Given the description of an element on the screen output the (x, y) to click on. 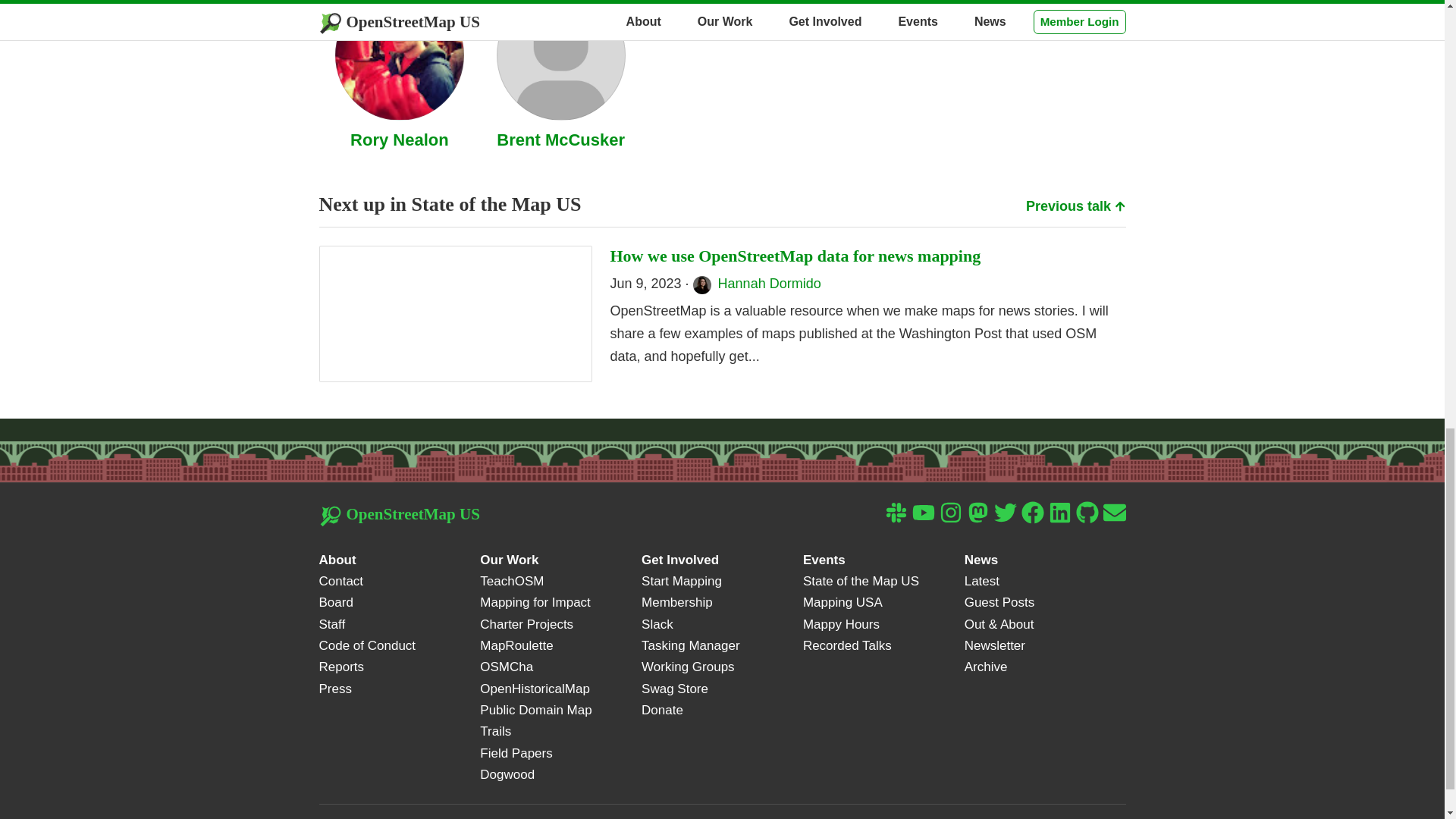
LinkedIn (1059, 512)
Slack (895, 512)
Mastodon (977, 512)
Twitter (1004, 512)
Rory Nealon (399, 139)
Email (1113, 512)
Instagram (949, 512)
Facebook (1031, 512)
GitHub (1086, 512)
